Given the description of an element on the screen output the (x, y) to click on. 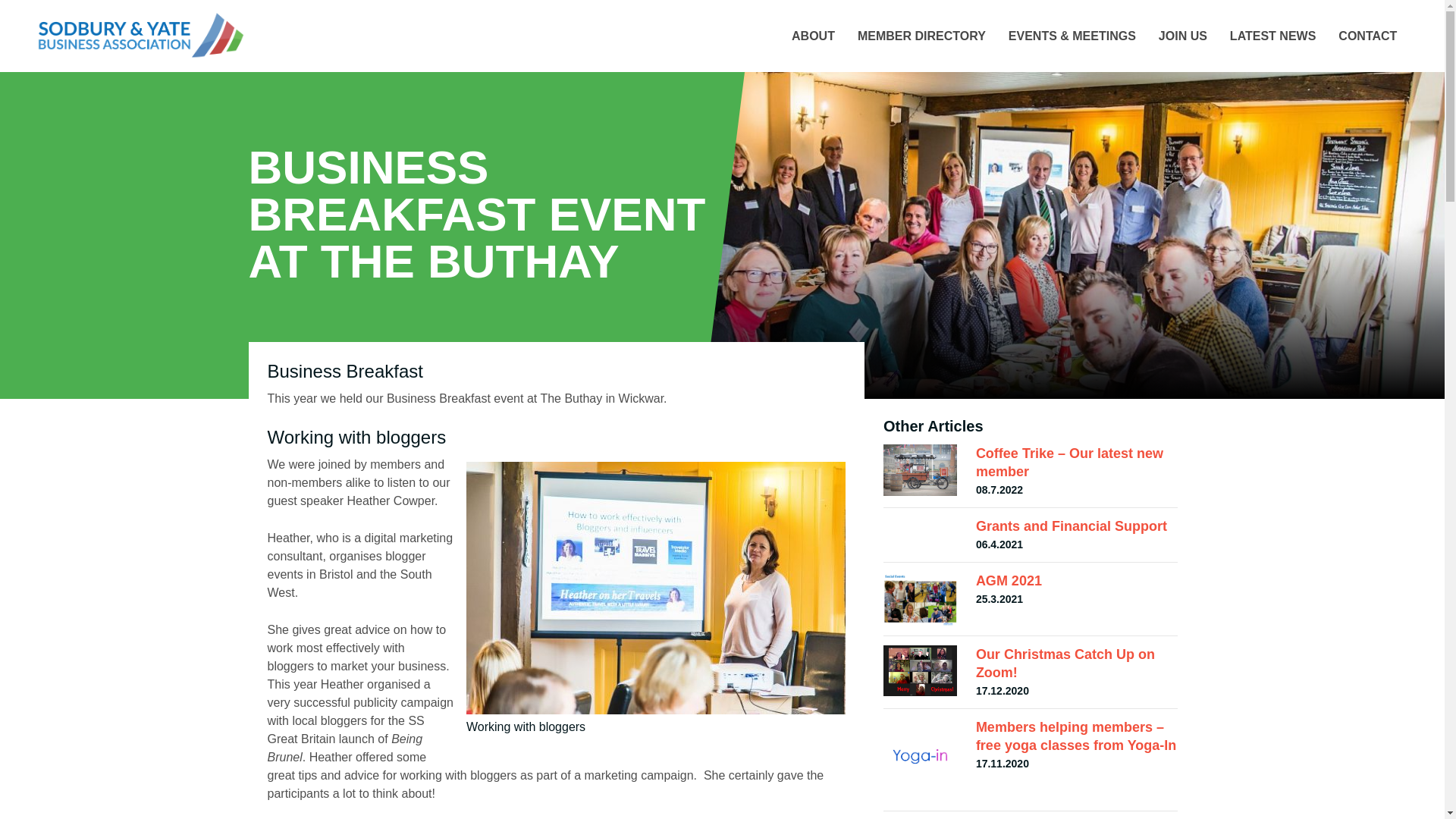
JOIN US (1182, 36)
MEMBER DIRECTORY (921, 36)
LATEST NEWS (1272, 36)
ABOUT (1030, 672)
CONTACT (812, 36)
